Given the description of an element on the screen output the (x, y) to click on. 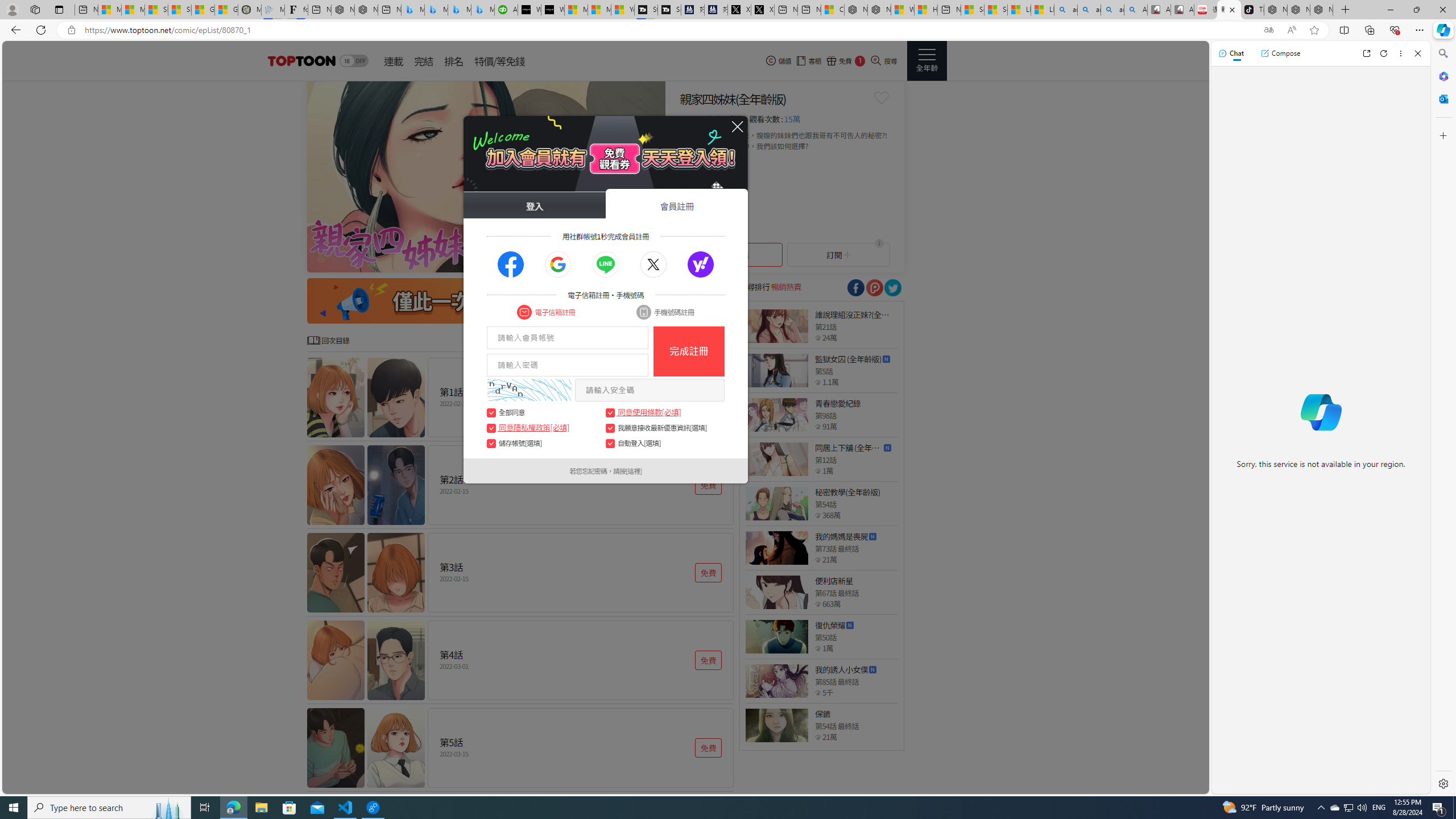
Shanghai, China weather forecast | Microsoft Weather (179, 9)
Outlook (1442, 98)
amazon - Search (1089, 9)
Class: thumb_img (776, 725)
